Given the description of an element on the screen output the (x, y) to click on. 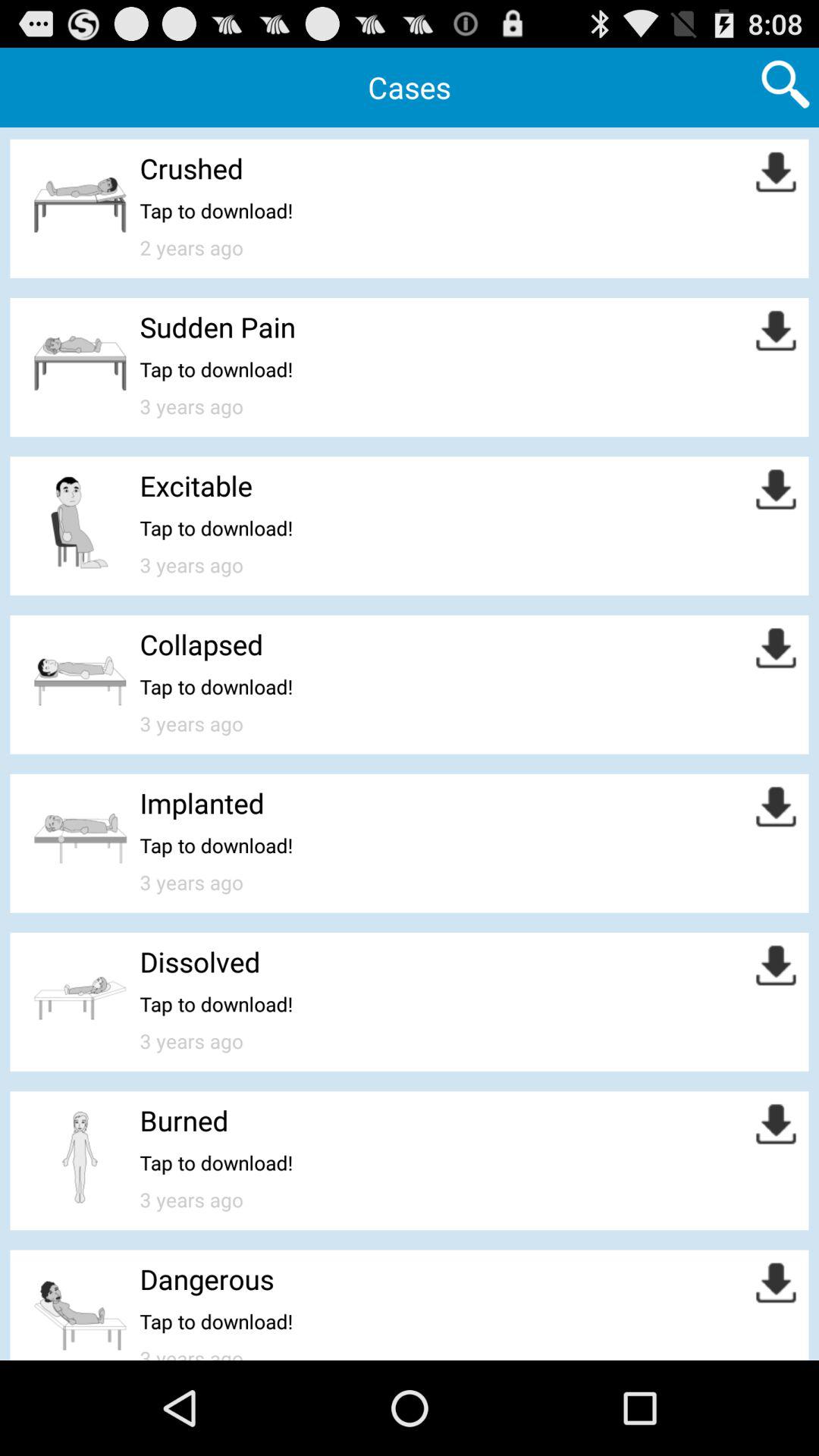
flip to the burned item (183, 1120)
